Given the description of an element on the screen output the (x, y) to click on. 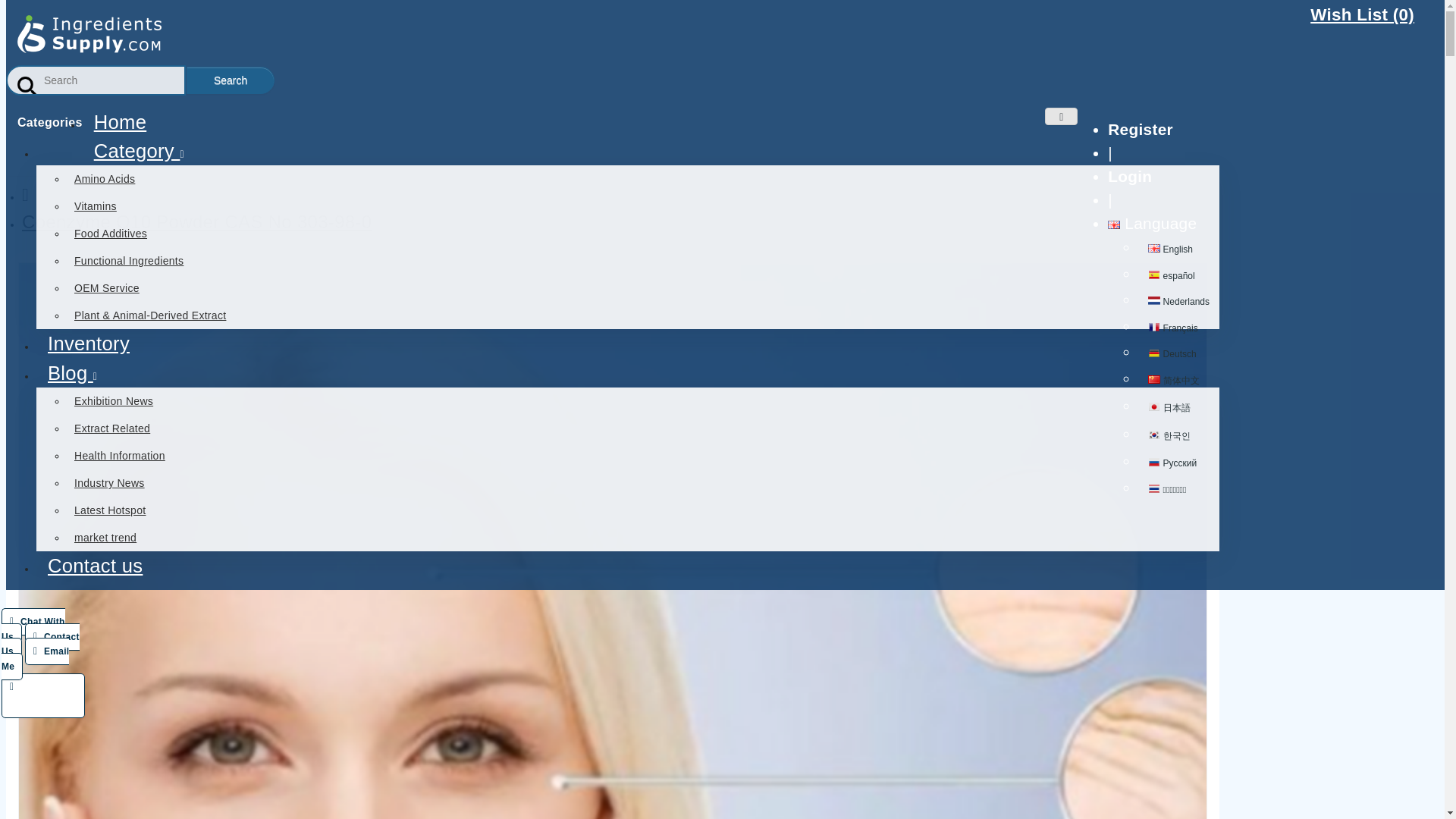
Blog (71, 372)
Health Information (164, 455)
Extract Related (164, 428)
Inventory (88, 343)
Food Additives (164, 233)
English (1170, 249)
Search (230, 80)
Products (88, 343)
Industry News (164, 482)
Ingredients Supply (89, 34)
market trend (164, 537)
Deutsch (1171, 354)
Category (138, 150)
register (1140, 128)
OEM Service (164, 288)
